Given the description of an element on the screen output the (x, y) to click on. 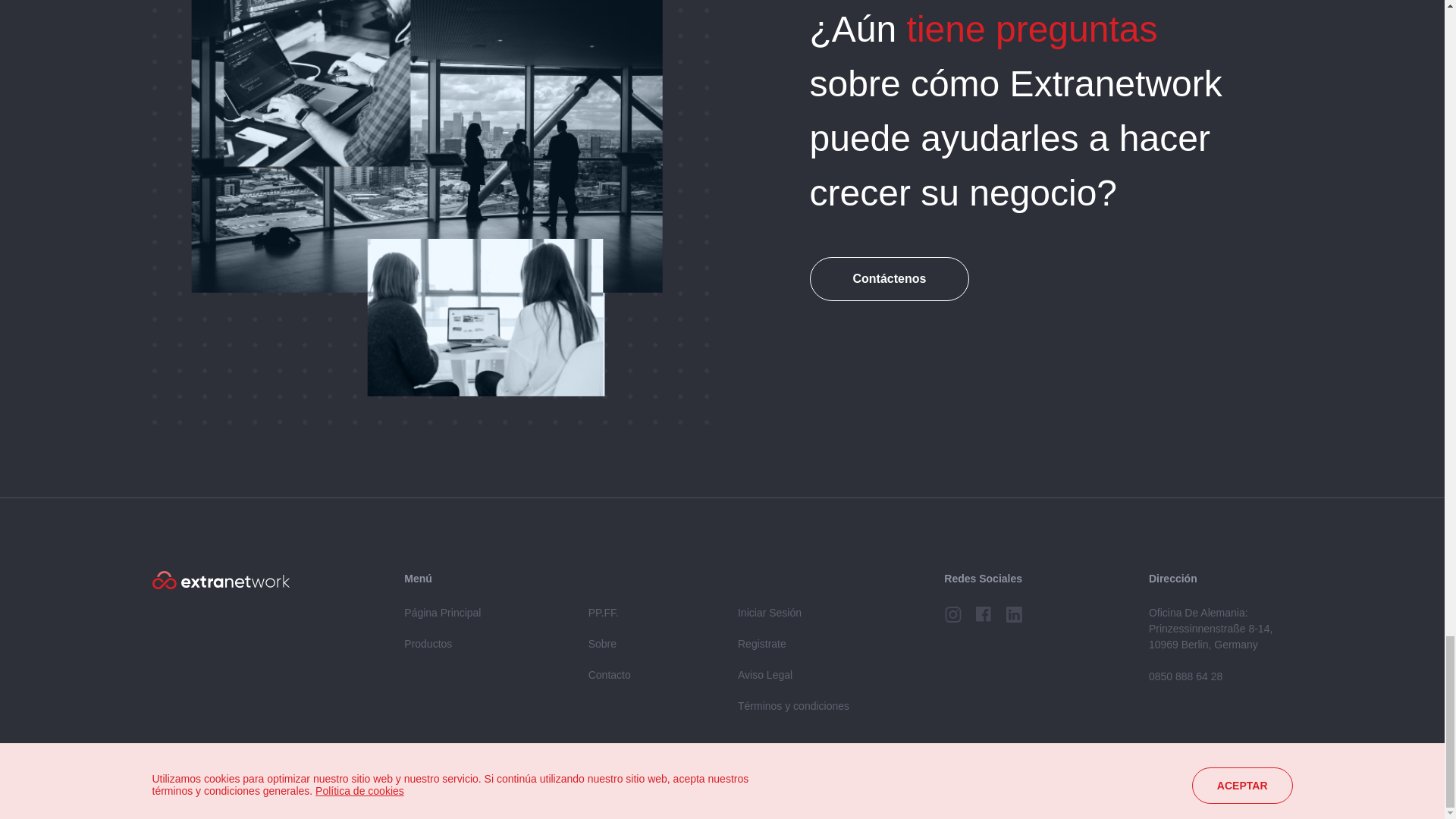
Registrate (762, 644)
Aviso Legal (765, 674)
Sobre (601, 644)
AYT Technology GmbH (1245, 793)
ExtraNetwork (220, 579)
0850 888 64 28 (1185, 676)
Contacto (609, 674)
Productos (427, 644)
PP.FF. (603, 612)
